Given the description of an element on the screen output the (x, y) to click on. 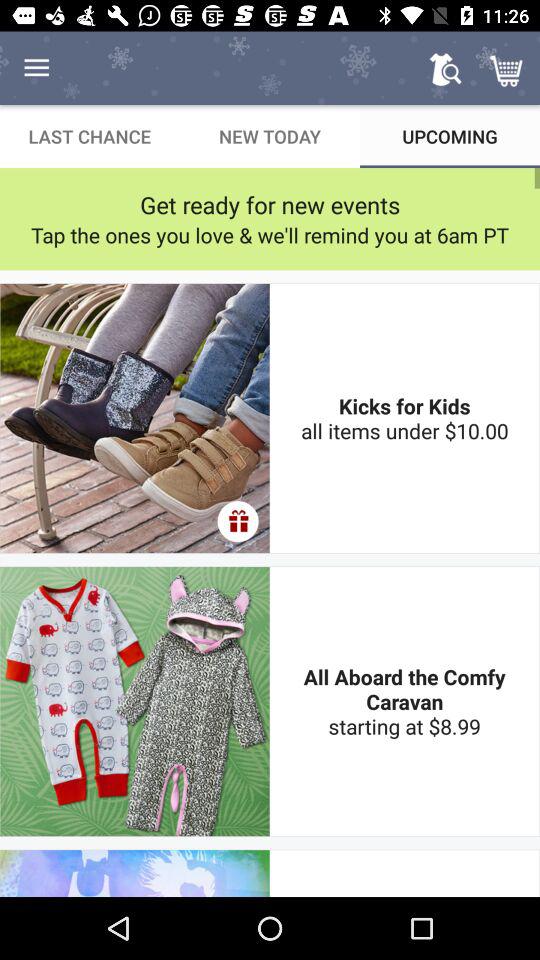
press get ready for icon (270, 204)
